Given the description of an element on the screen output the (x, y) to click on. 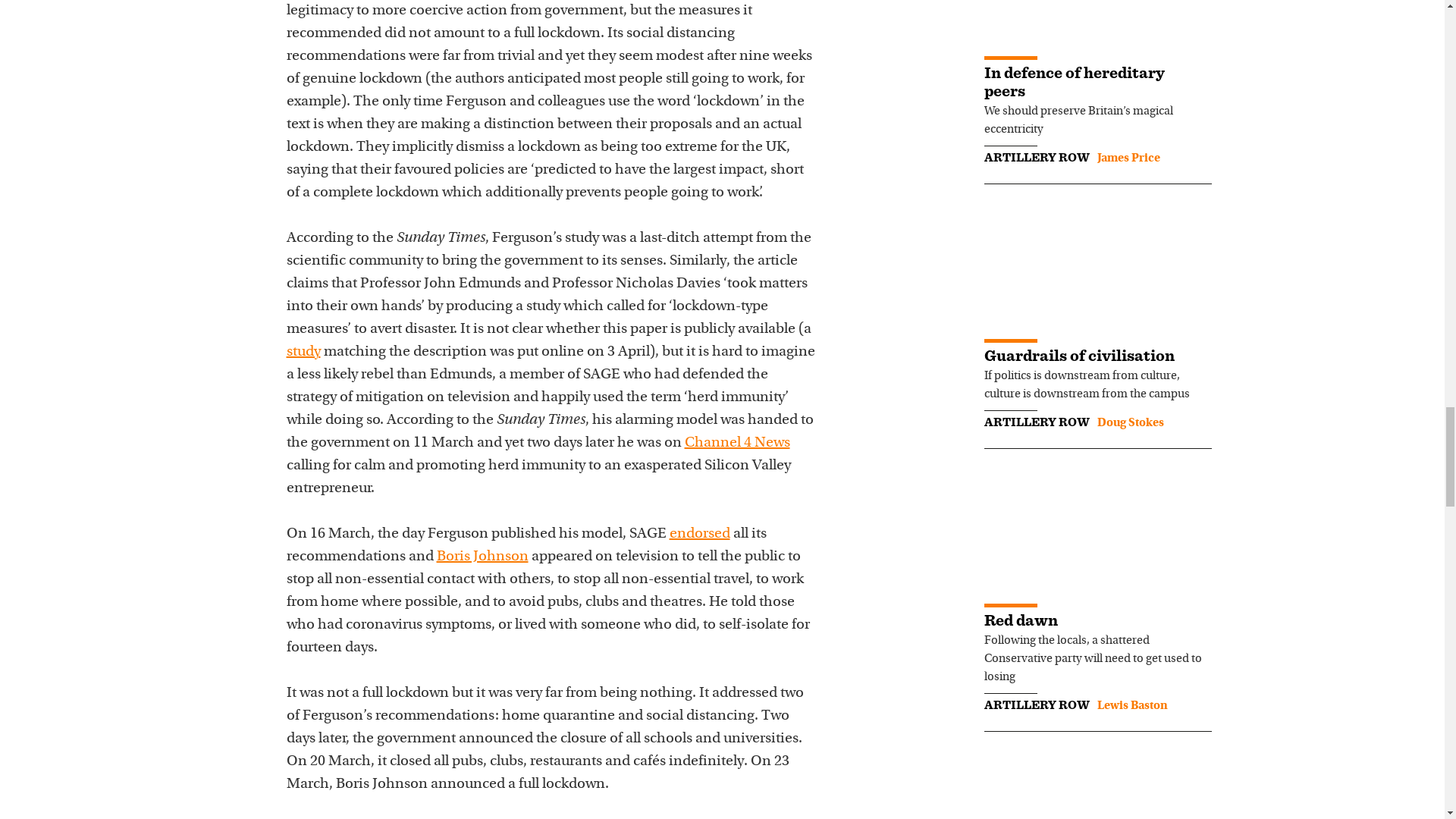
study (303, 351)
Channel 4 News (736, 442)
Boris Johnson (482, 556)
Posts by James Price (1127, 158)
Posts by Doug Stokes (1129, 422)
endorsed (698, 533)
Posts by Lewis Baston (1131, 705)
